Given the description of an element on the screen output the (x, y) to click on. 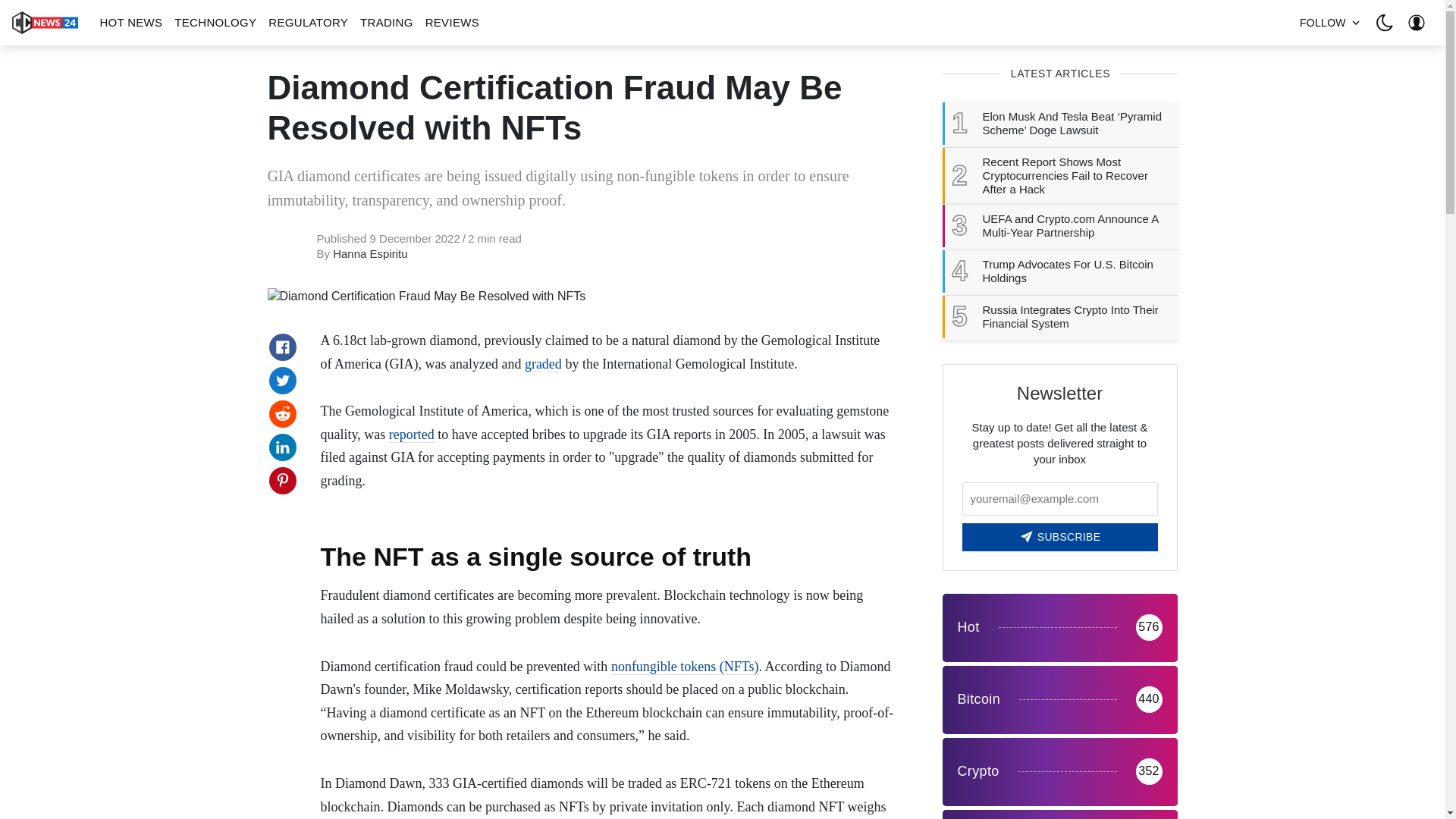
REVIEWS (451, 22)
graded (543, 364)
hot (1059, 627)
TRADING (386, 22)
bitcoin (1059, 699)
Posts by Hanna Espiritu (370, 253)
Hanna Espiritu (370, 253)
reported (410, 434)
Trading (1059, 814)
TECHNOLOGY (215, 22)
